Given the description of an element on the screen output the (x, y) to click on. 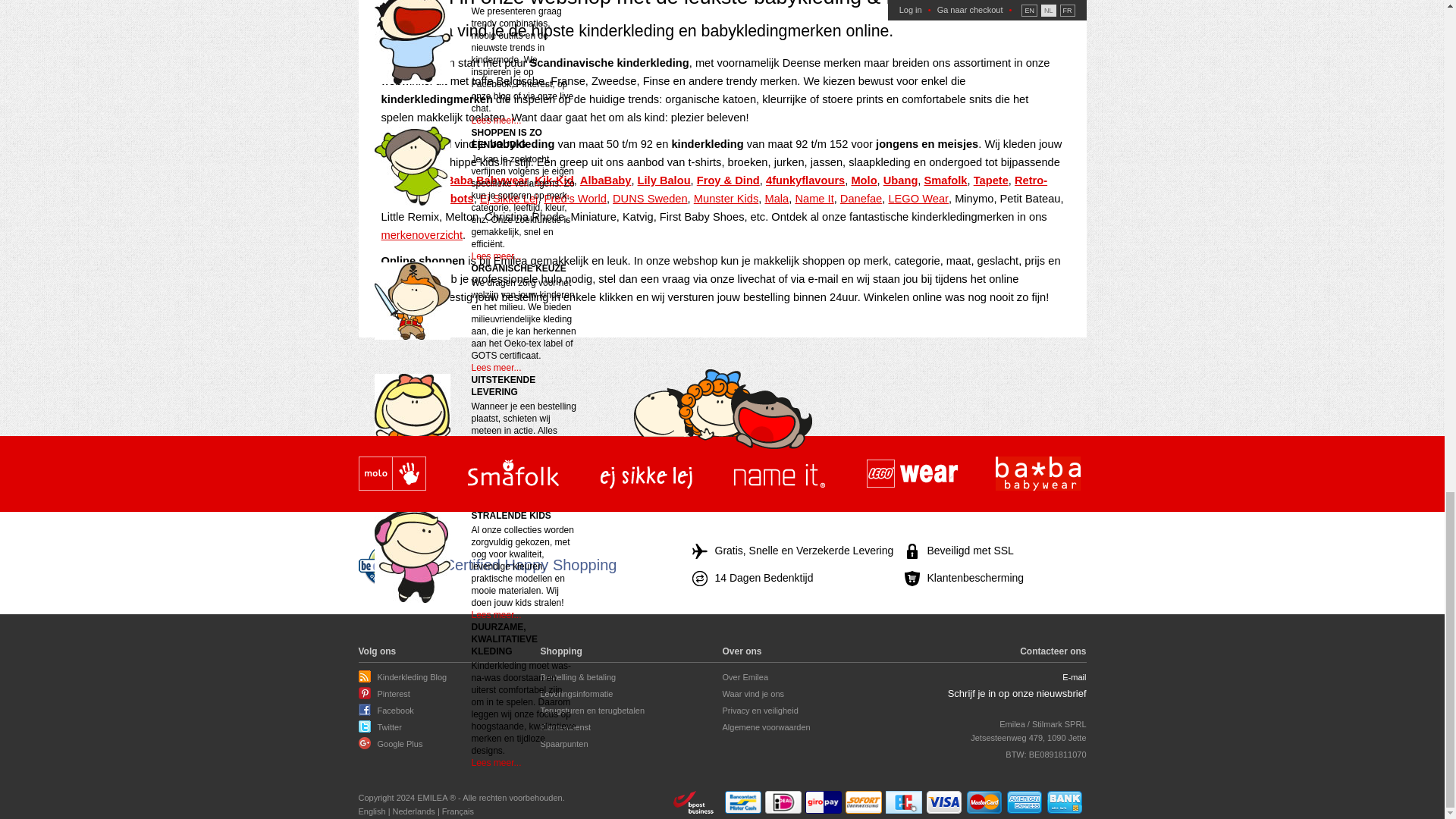
Name It (779, 474)
Ej Sikke Lej (646, 474)
Molo Kids (391, 474)
Lego Wear (911, 474)
